Given the description of an element on the screen output the (x, y) to click on. 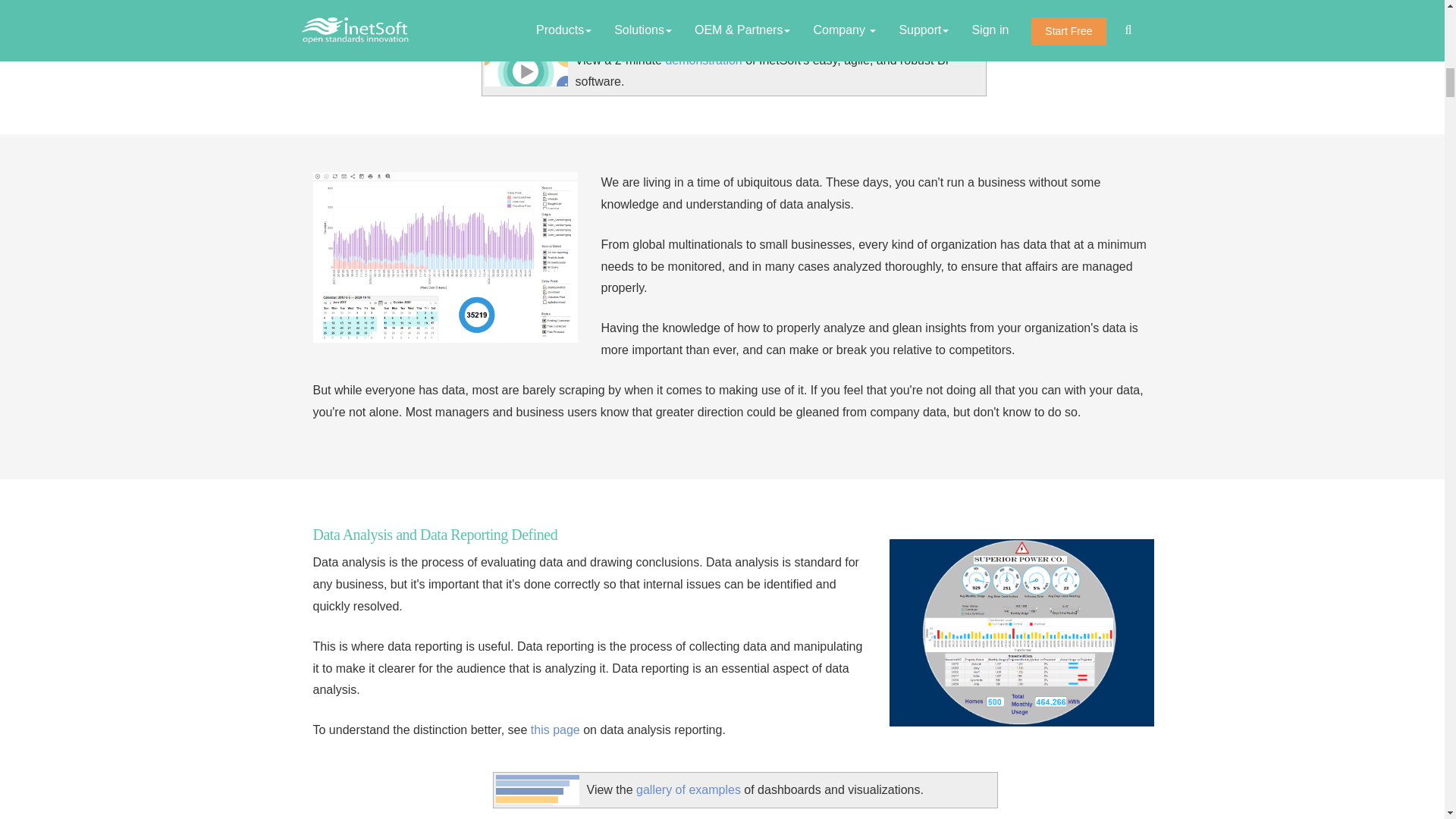
View the gallery (537, 788)
See examples of attractive charts and dashboards (688, 789)
Check out the demo (703, 60)
Watch the demo (525, 71)
